Given the description of an element on the screen output the (x, y) to click on. 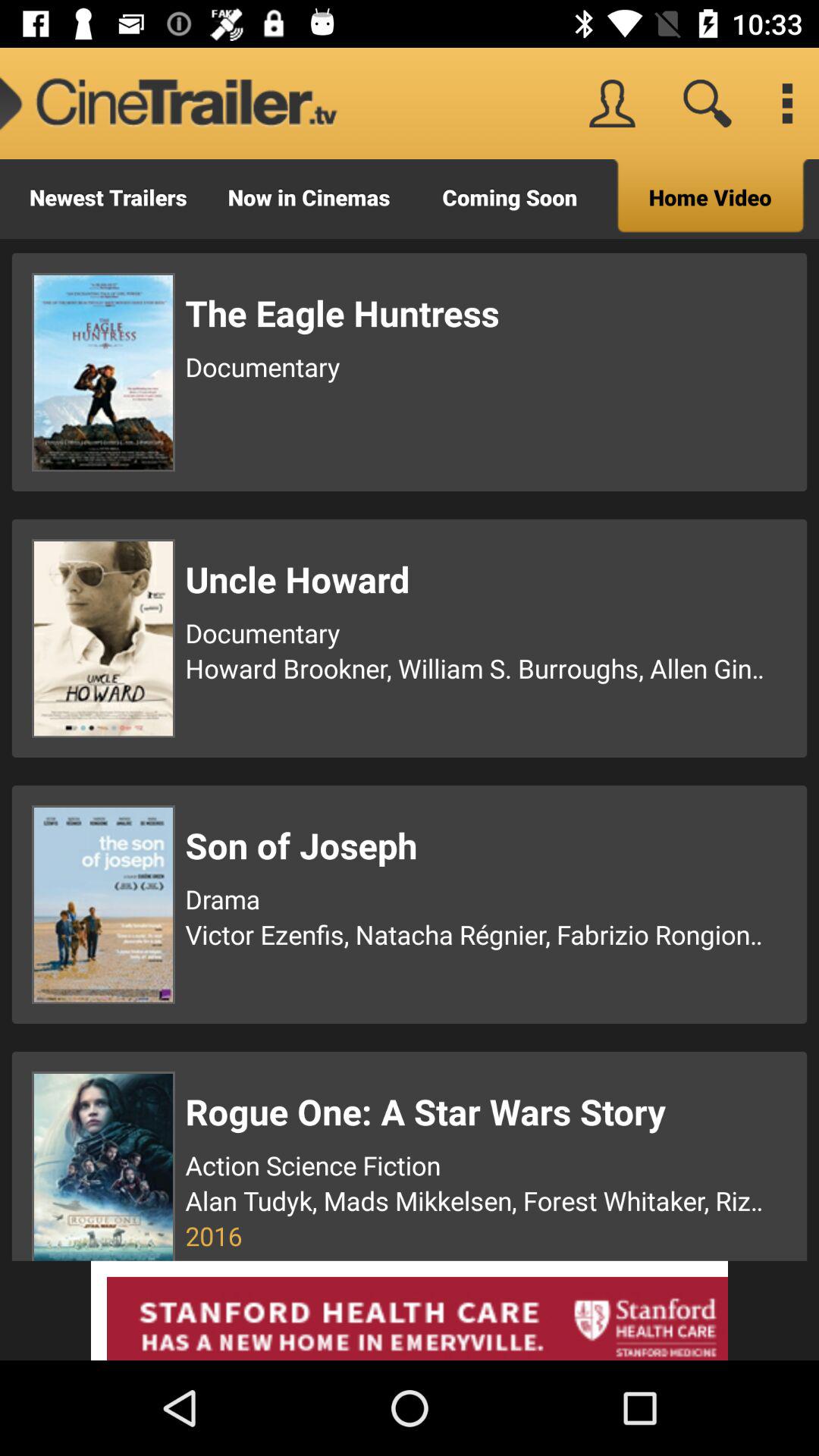
swipe until howard brookner william item (476, 667)
